Given the description of an element on the screen output the (x, y) to click on. 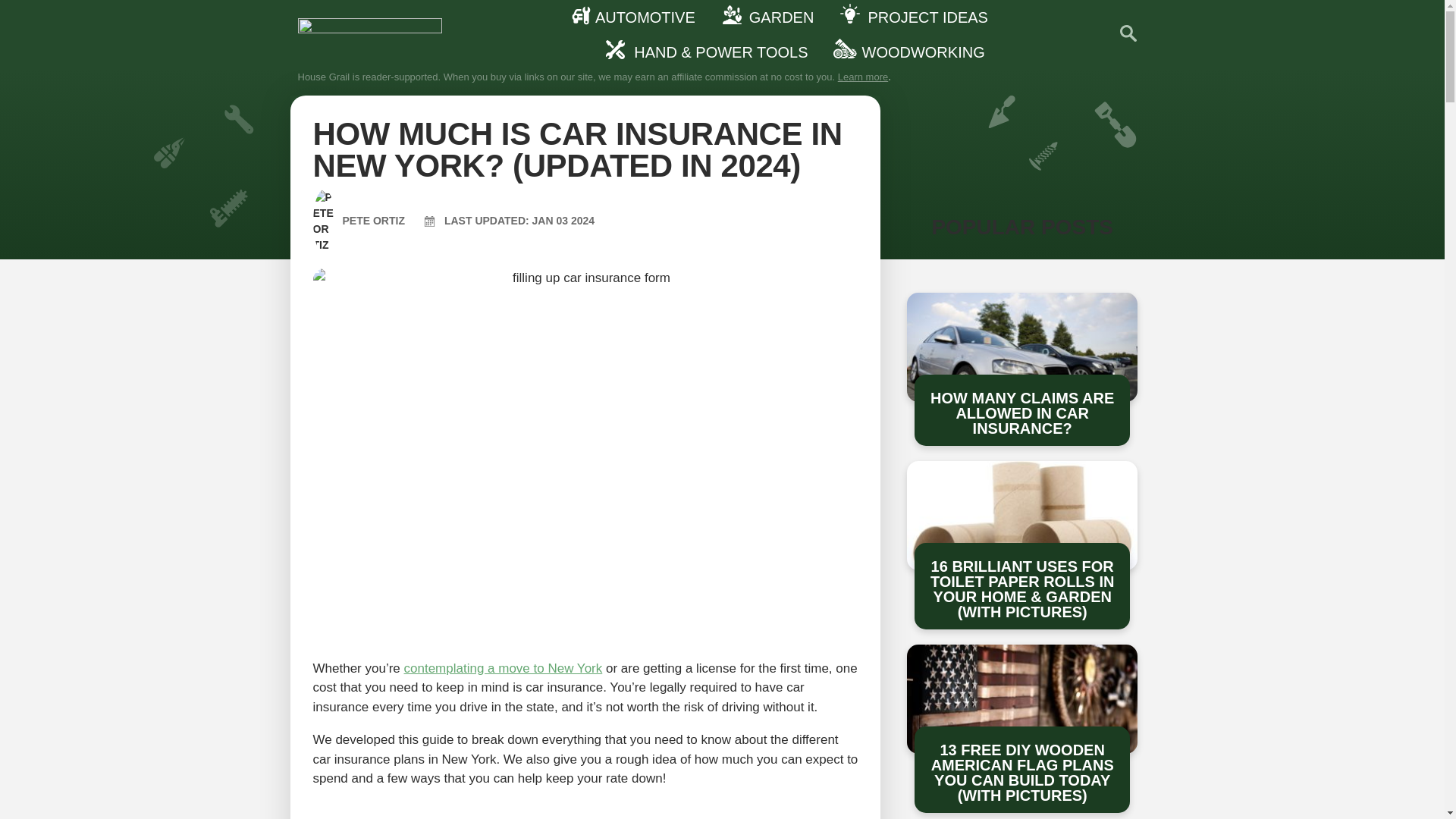
WOODWORKING (913, 52)
GARDEN (771, 17)
PROJECT IDEAS (918, 17)
contemplating a move to New York (502, 667)
Learn more (863, 76)
HOW MANY CLAIMS ARE ALLOWED IN CAR INSURANCE? (1021, 412)
AUTOMOTIVE (635, 17)
